Given the description of an element on the screen output the (x, y) to click on. 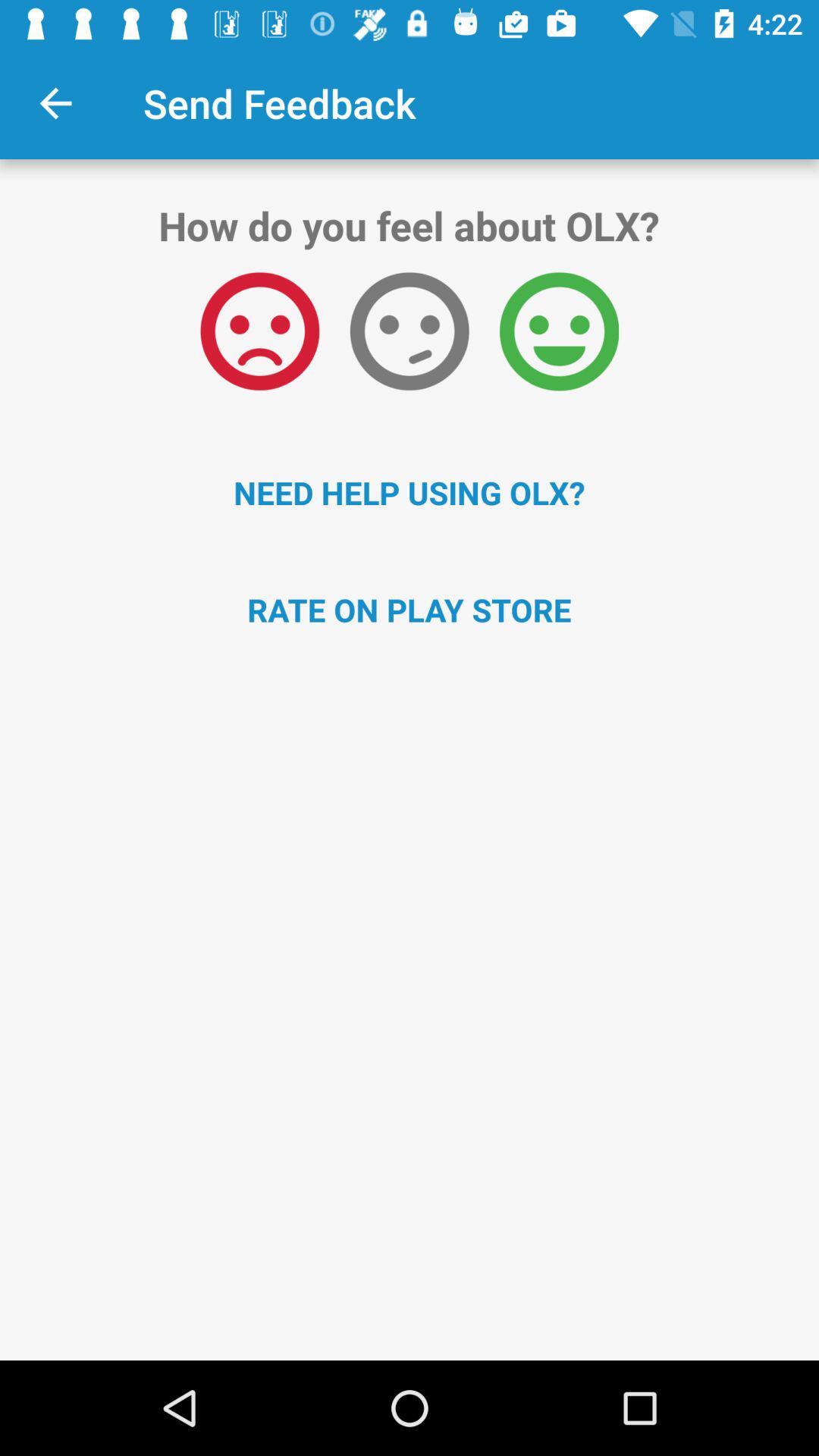
launch need help using icon (409, 492)
